Given the description of an element on the screen output the (x, y) to click on. 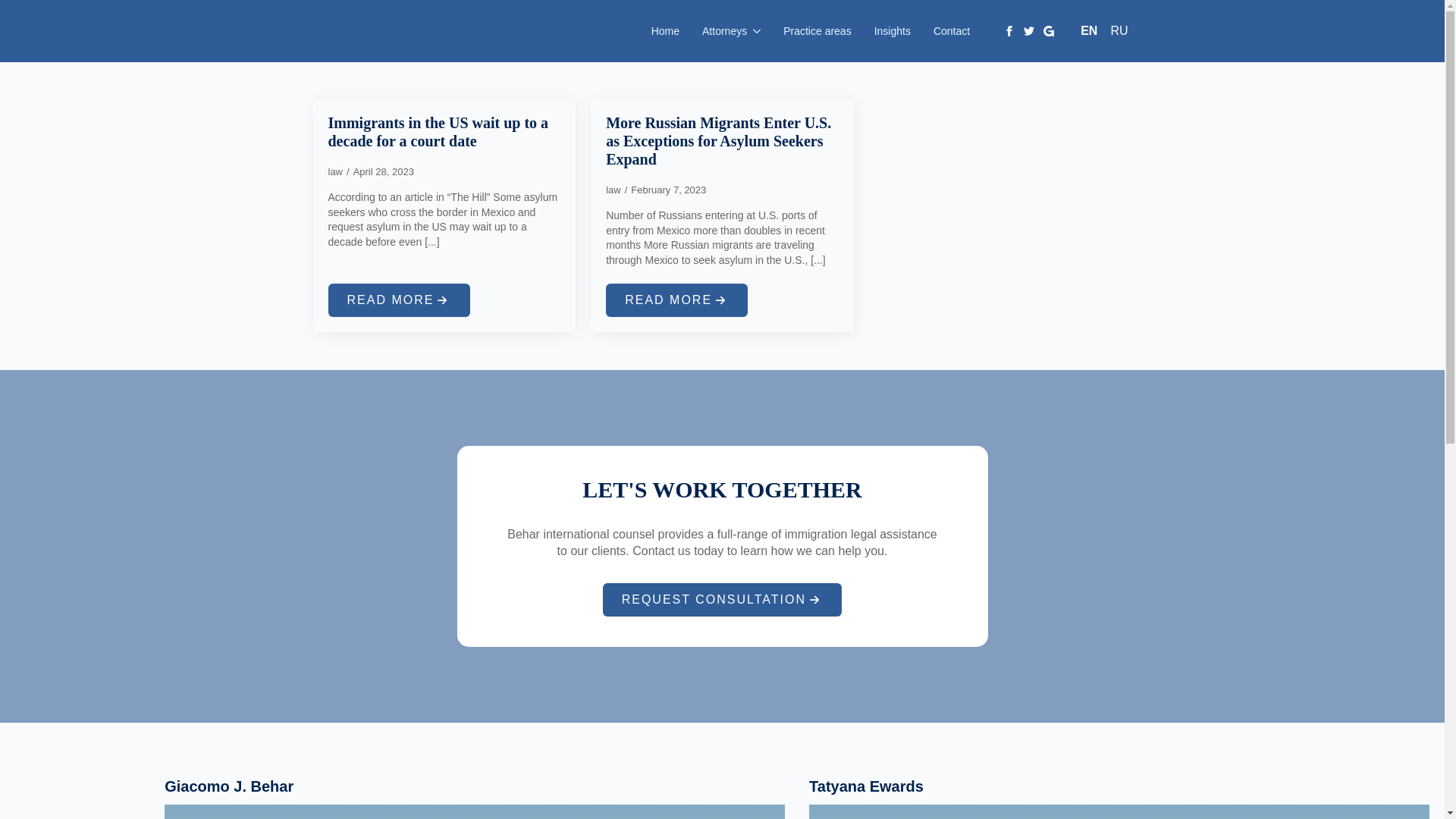
Practice areas (816, 30)
Immigrants in the US wait up to a decade for a court date (443, 131)
READ MORE (397, 299)
REQUEST CONSULTATION (722, 599)
Contact (951, 30)
EN (1088, 30)
Home (665, 30)
Insights (892, 30)
READ MORE (676, 299)
Attorneys (718, 30)
RU (1118, 30)
